Given the description of an element on the screen output the (x, y) to click on. 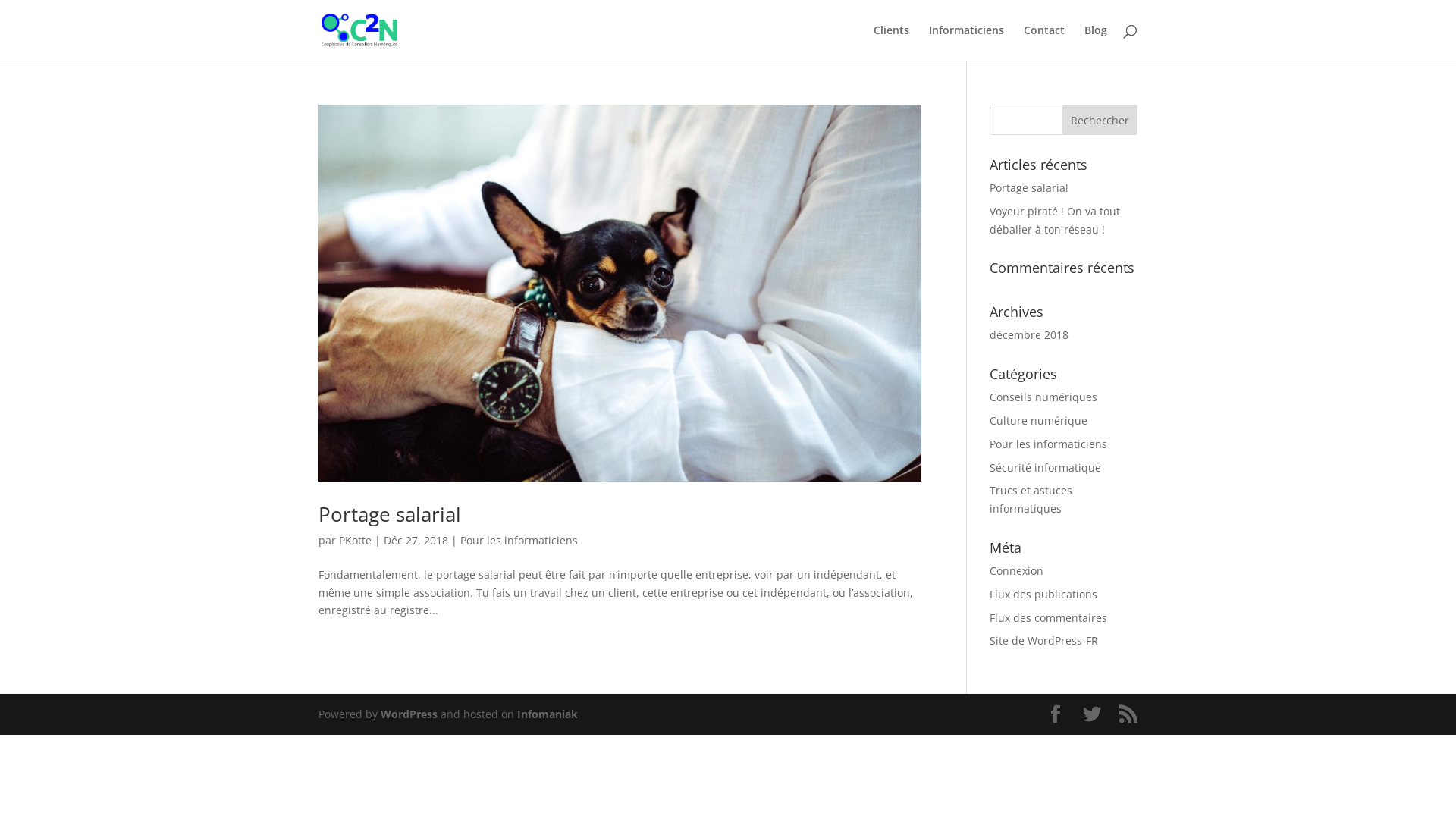
Flux des commentaires Element type: text (1048, 617)
Infomaniak Element type: text (547, 713)
Site de WordPress-FR Element type: text (1043, 640)
Connexion Element type: text (1016, 570)
Contact Element type: text (1043, 42)
Blog Element type: text (1095, 42)
Clients Element type: text (891, 42)
PKotte Element type: text (354, 540)
Pour les informaticiens Element type: text (1048, 443)
Informaticiens Element type: text (966, 42)
Pour les informaticiens Element type: text (518, 540)
WordPress Element type: text (408, 713)
Portage salarial Element type: text (389, 513)
Rechercher Element type: text (1099, 119)
Portage salarial Element type: text (1028, 187)
Flux des publications Element type: text (1043, 593)
Trucs et astuces informatiques Element type: text (1030, 499)
